Given the description of an element on the screen output the (x, y) to click on. 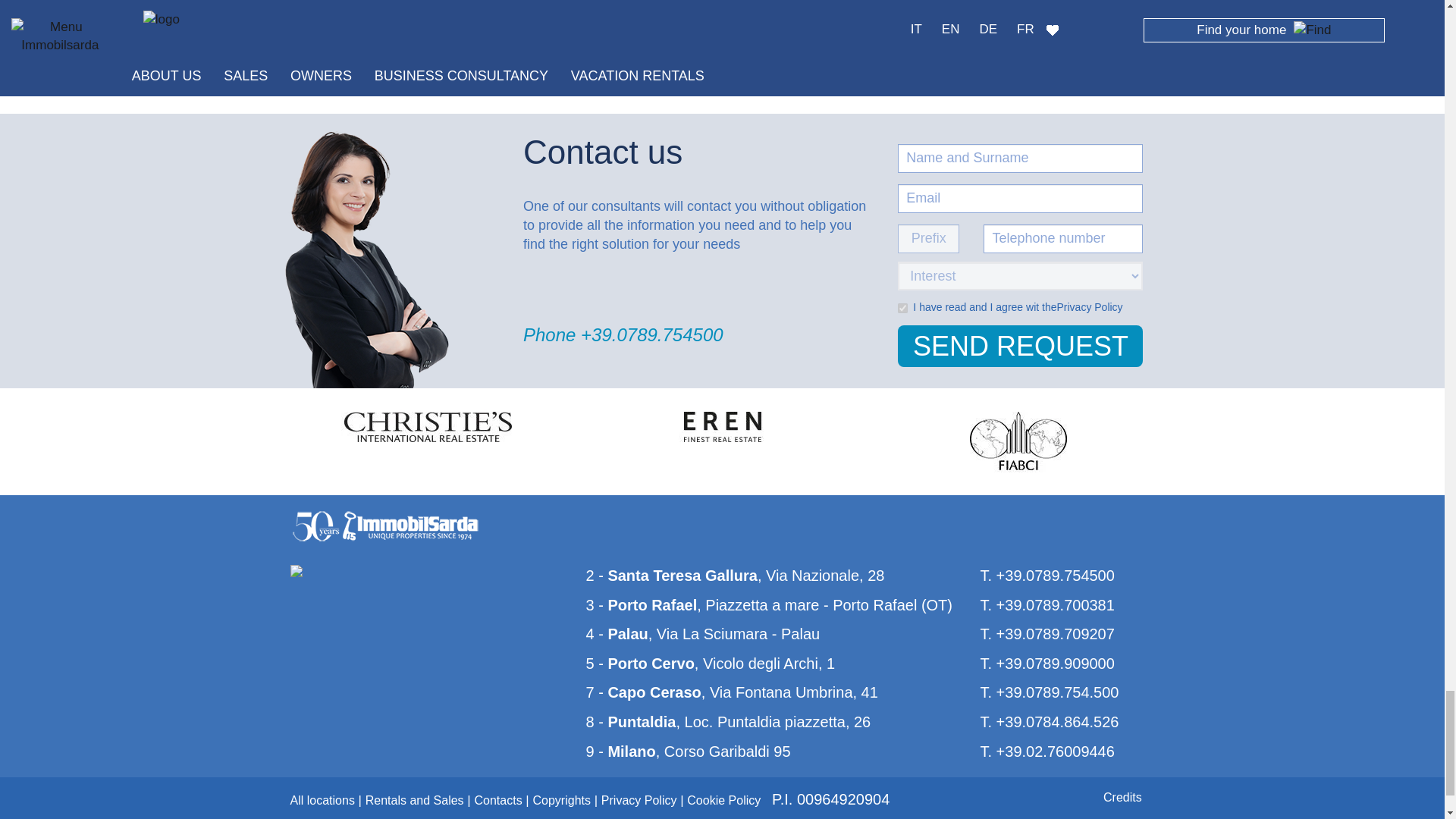
agenzia immobiliare Porto Rafael (641, 605)
agenzia immobiliare Porto Cervo (639, 663)
agenzia immobiliare Capo Ceraso (642, 692)
on (902, 307)
agenzia immobiliare Puntaldia (630, 721)
agenzia immobiliare Santa Teresa Gallura (671, 575)
agenzia immobiliare Milano (620, 751)
agenzia immobiliare Palau (616, 633)
